Given the description of an element on the screen output the (x, y) to click on. 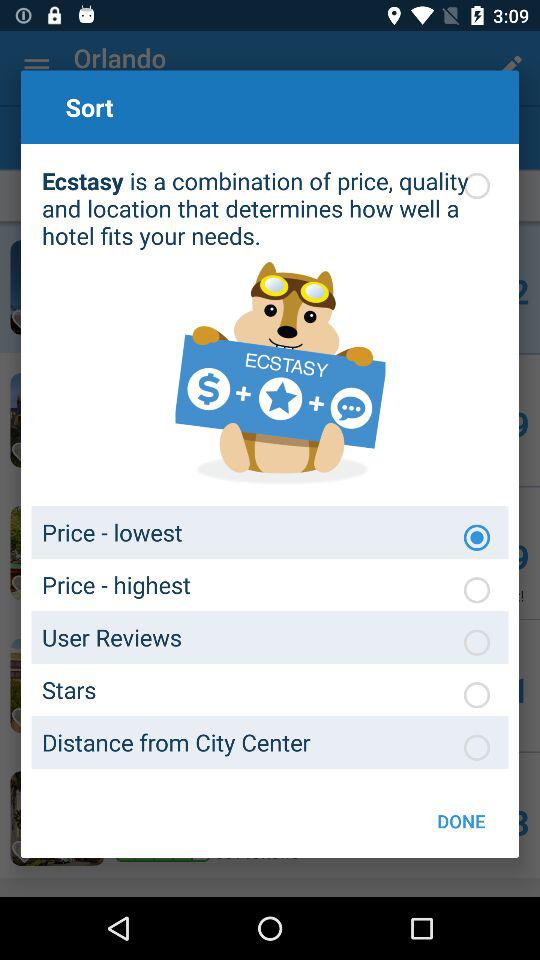
flip until the done item (461, 820)
